Given the description of an element on the screen output the (x, y) to click on. 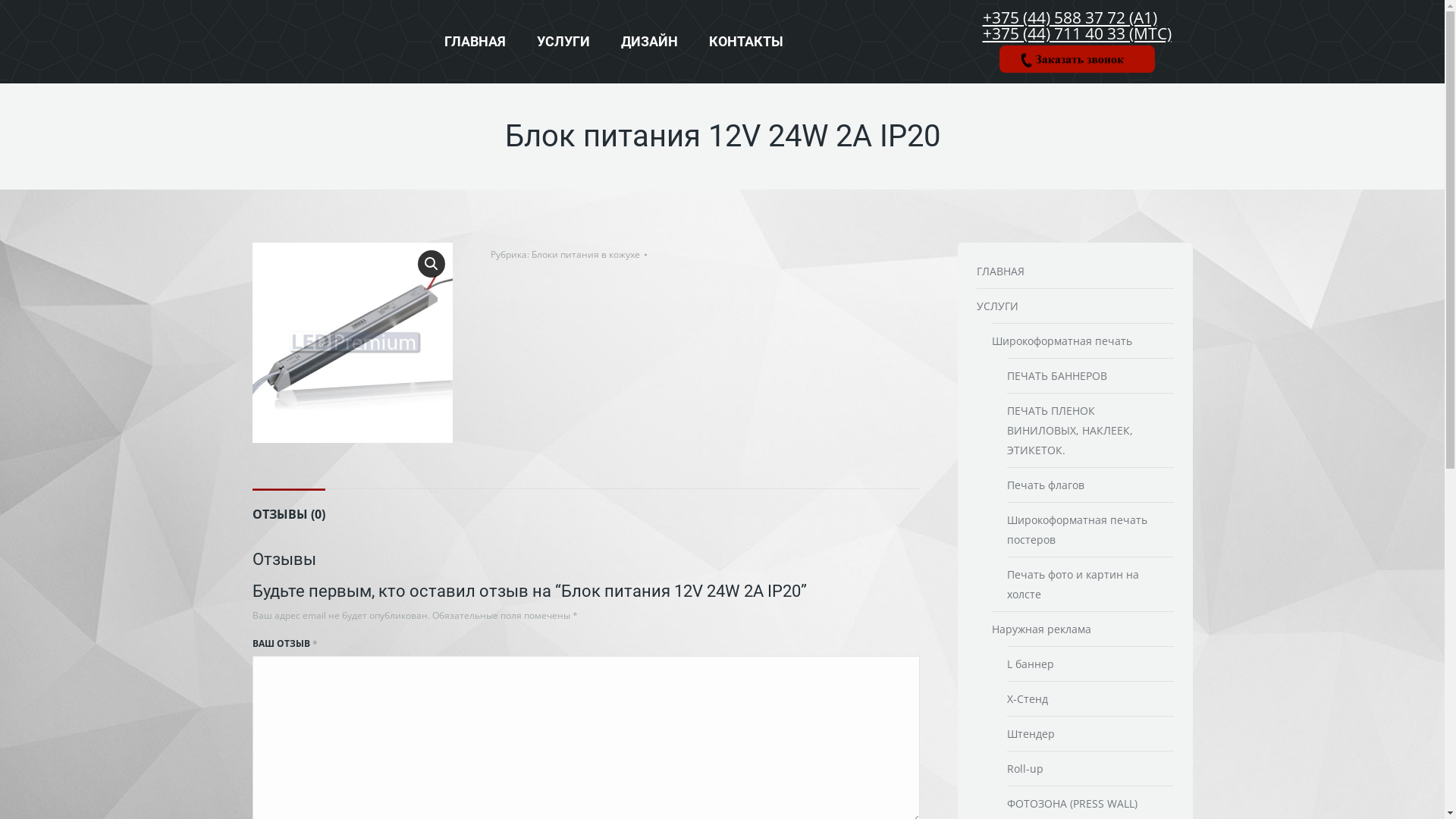
+375 (44) 588 37 72 (A1) Element type: text (1069, 17)
a_71740 Element type: hover (351, 342)
+375 (44) 711 40 33 (MTC) Element type: text (1076, 32)
Roll-up Element type: text (1030, 768)
